Given the description of an element on the screen output the (x, y) to click on. 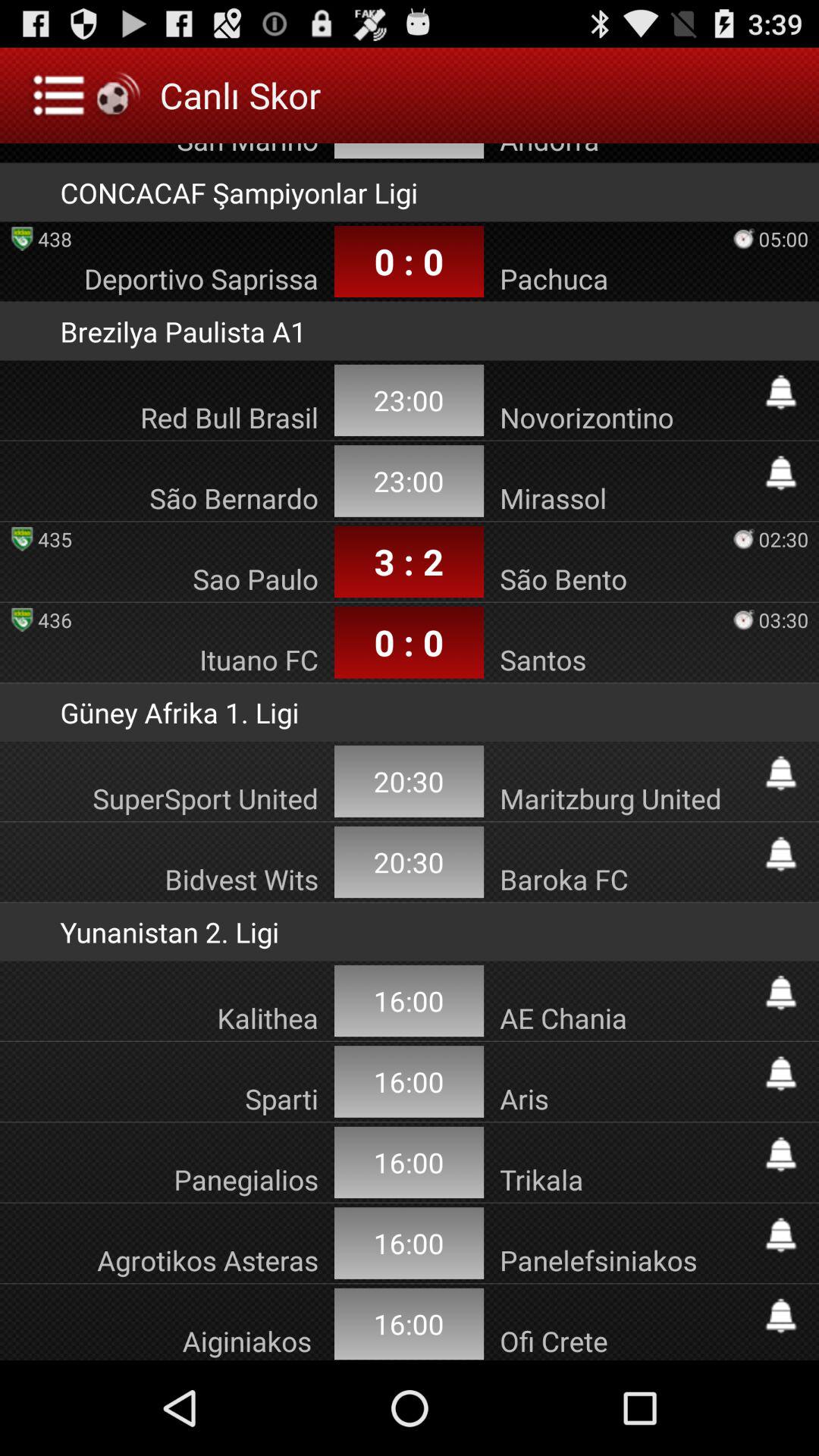
bell icon (780, 1315)
